Given the description of an element on the screen output the (x, y) to click on. 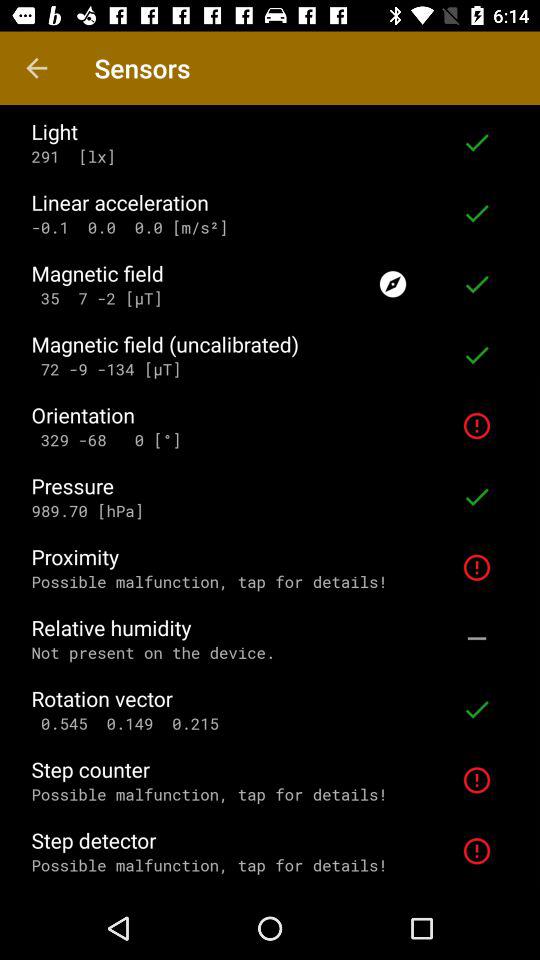
gps enabled (393, 283)
